Given the description of an element on the screen output the (x, y) to click on. 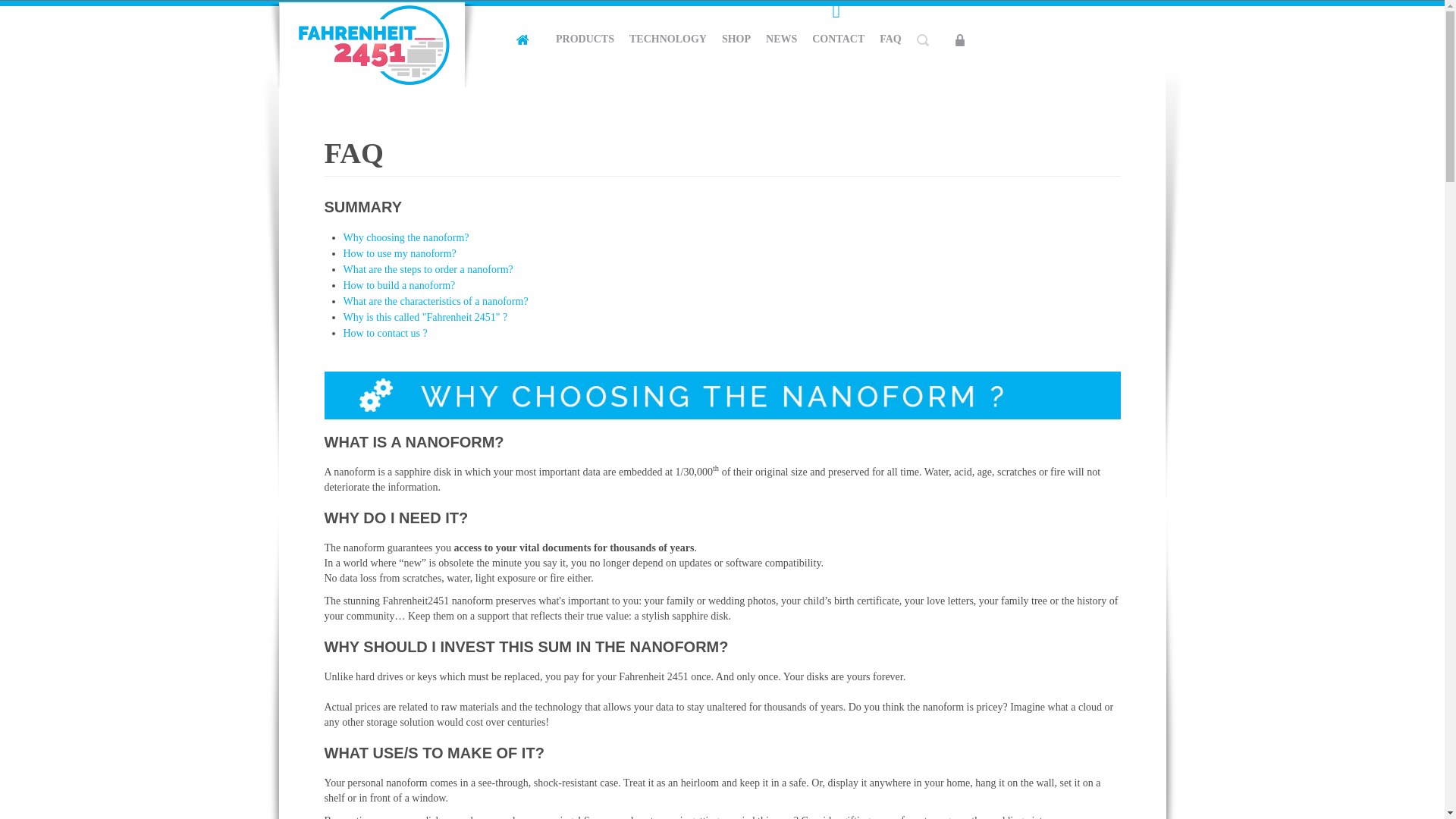
FAQ (354, 152)
How to use my nanoform? (398, 253)
How to contact us ? (384, 333)
Log in (986, 305)
How to contact us ? (384, 333)
SHOP (736, 39)
Why is this called "Fahrenheit 2451" ? (424, 317)
CONTACT (838, 39)
FAQ (890, 39)
NEWS (781, 39)
What are the steps to order a nanoform? (427, 269)
TECHNOLOGY (667, 39)
How to build a nanoform? (398, 285)
